Given the description of an element on the screen output the (x, y) to click on. 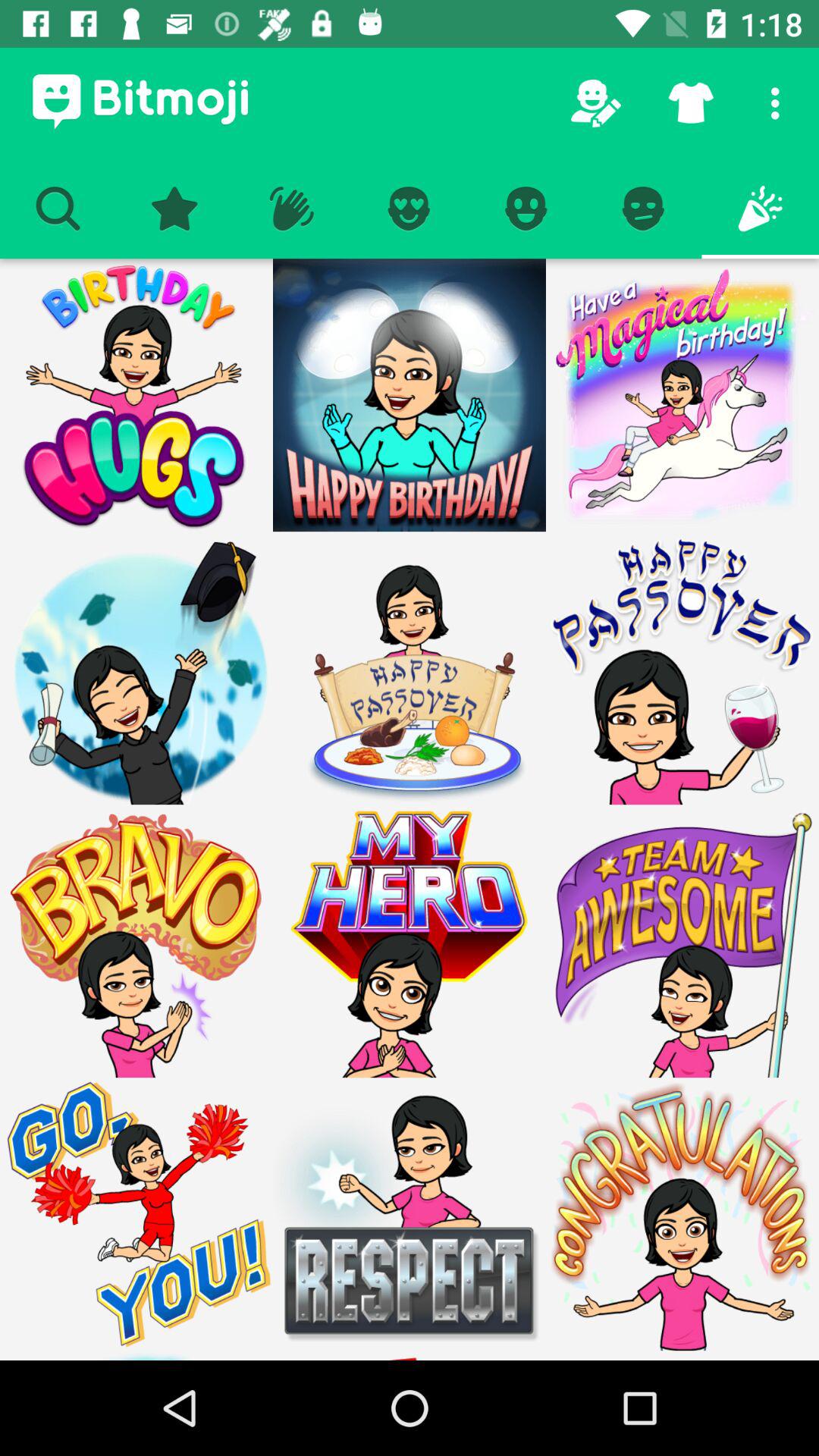
this button is used to select the bravo icon (136, 940)
